Given the description of an element on the screen output the (x, y) to click on. 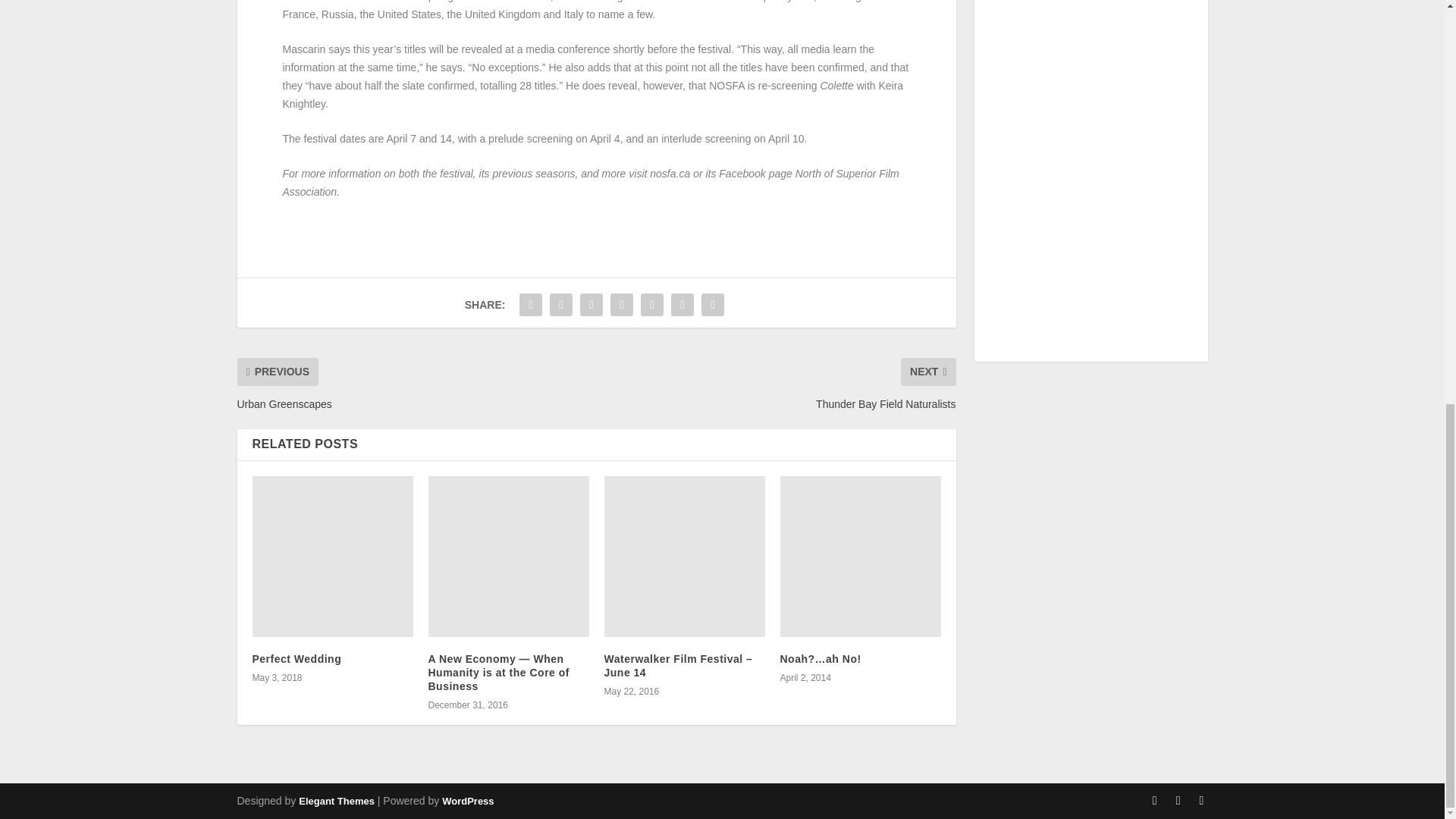
Perfect Wedding (331, 556)
Share "NOSFA Turns 27" via Print (712, 304)
Share "NOSFA Turns 27" via Facebook (530, 304)
Share "NOSFA Turns 27" via Email (681, 304)
Share "NOSFA Turns 27" via LinkedIn (651, 304)
Premium WordPress Themes (336, 800)
Share "NOSFA Turns 27" via Twitter (561, 304)
Share "NOSFA Turns 27" via Tumblr (591, 304)
Share "NOSFA Turns 27" via Pinterest (622, 304)
